Given the description of an element on the screen output the (x, y) to click on. 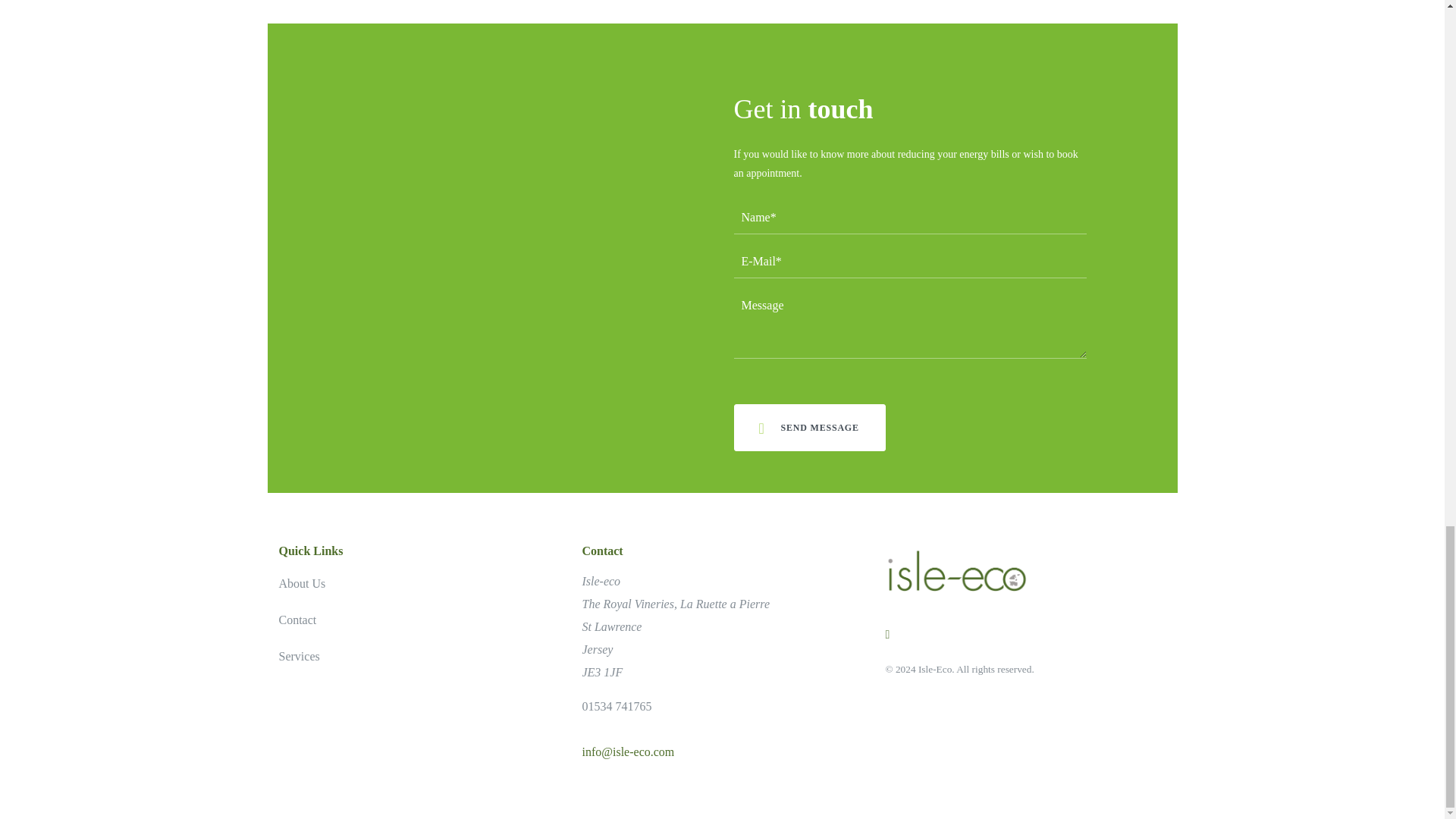
Send Message (809, 427)
